Given the description of an element on the screen output the (x, y) to click on. 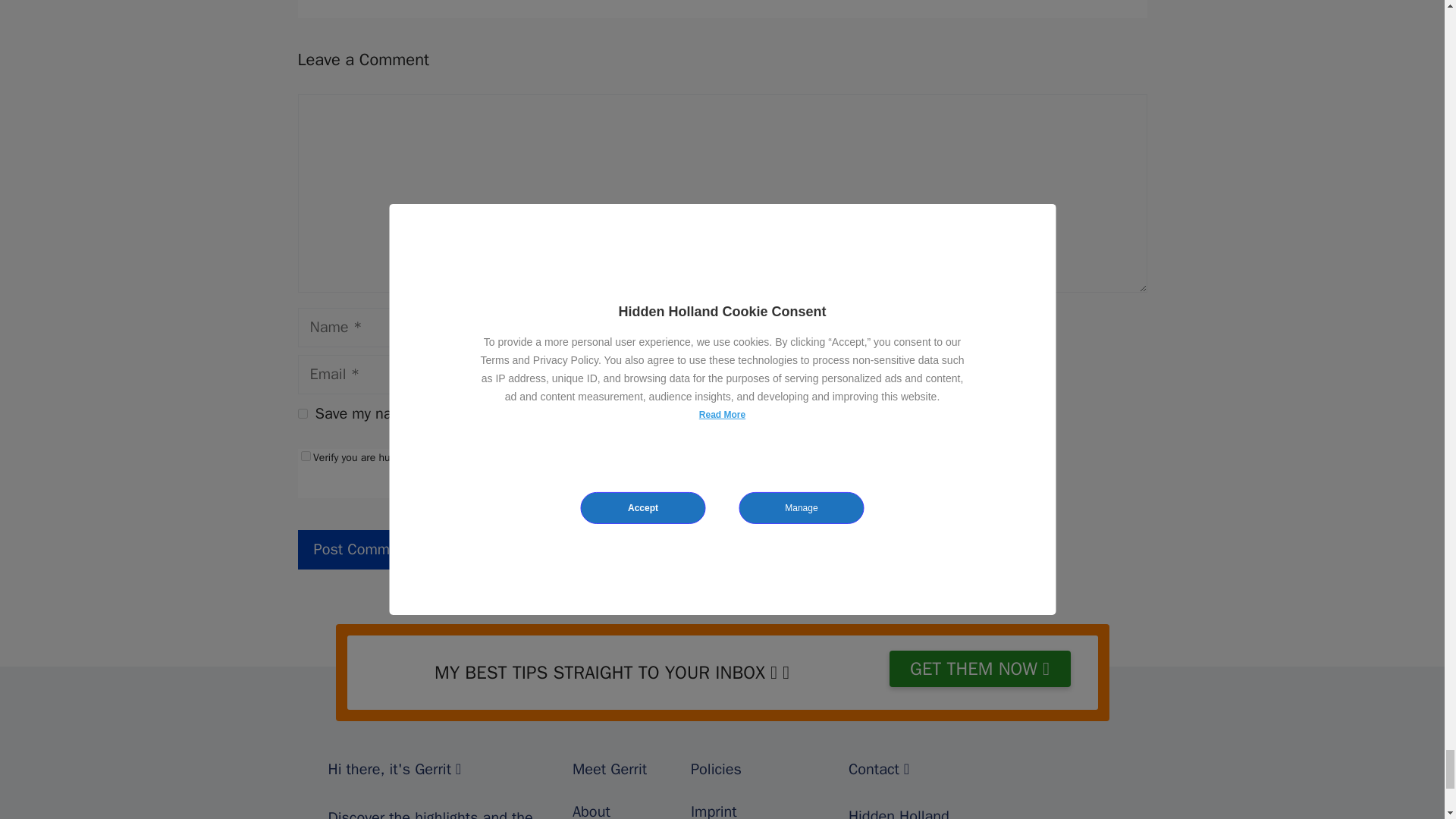
Post Comment (361, 549)
yes (302, 413)
